Given the description of an element on the screen output the (x, y) to click on. 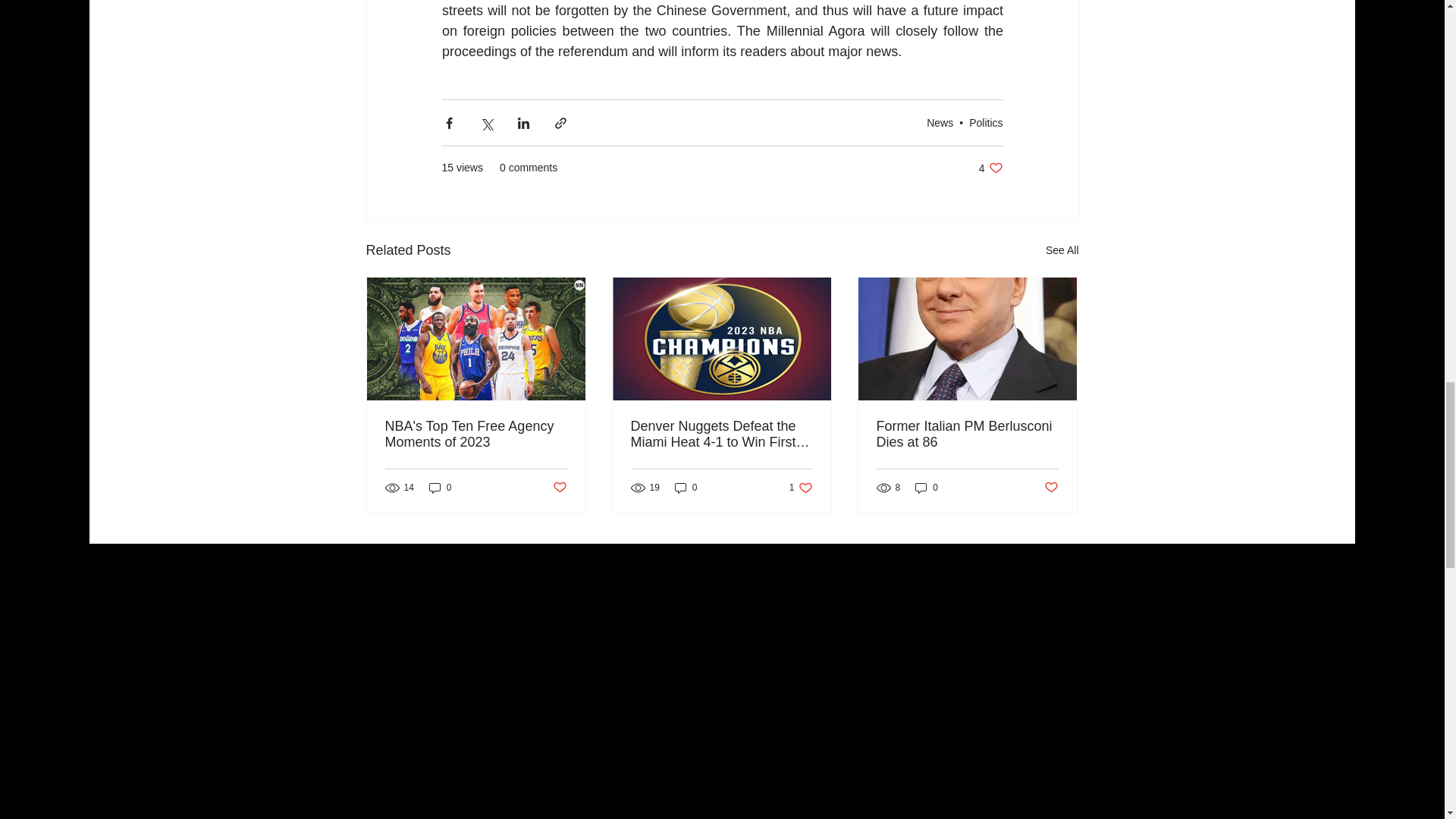
0 (440, 487)
News (939, 122)
NBA's Top Ten Free Agency Moments of 2023 (476, 434)
See All (990, 167)
Politics (1061, 250)
Post not marked as liked (986, 122)
